Given the description of an element on the screen output the (x, y) to click on. 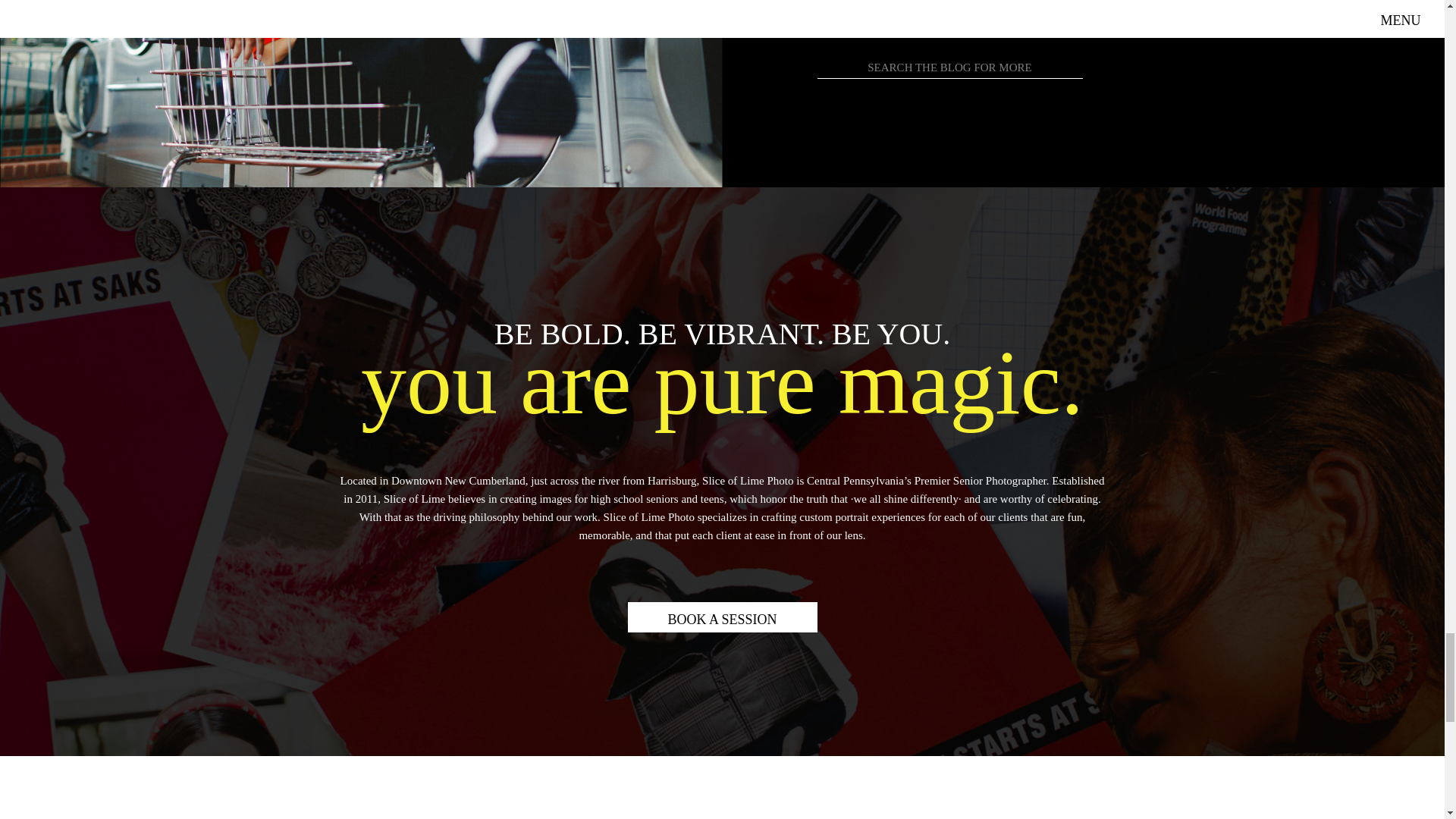
BOOK A SESSION (722, 617)
